Given the description of an element on the screen output the (x, y) to click on. 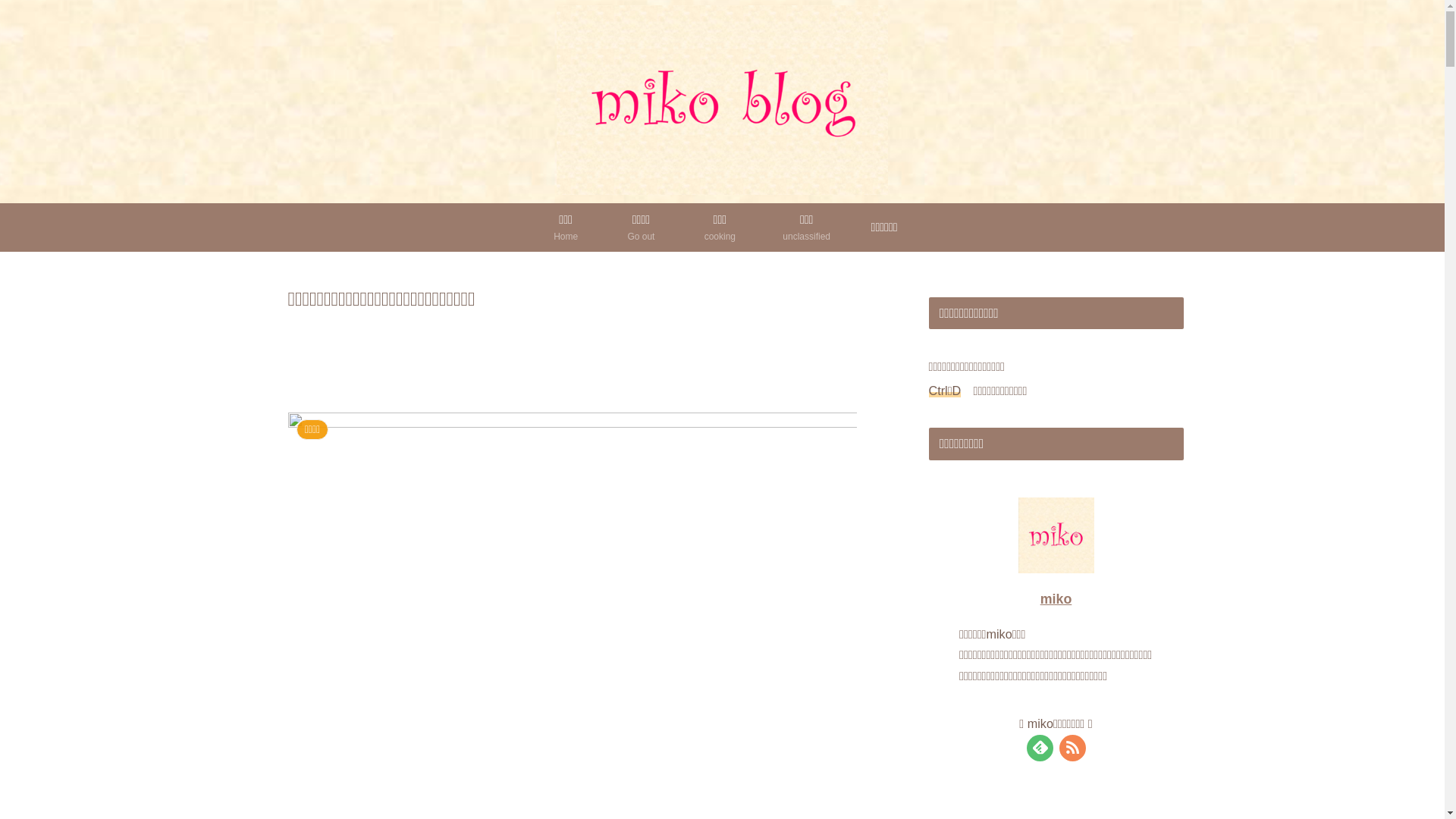
Advertisement Element type: hover (572, 357)
miko Element type: text (1056, 598)
